Given the description of an element on the screen output the (x, y) to click on. 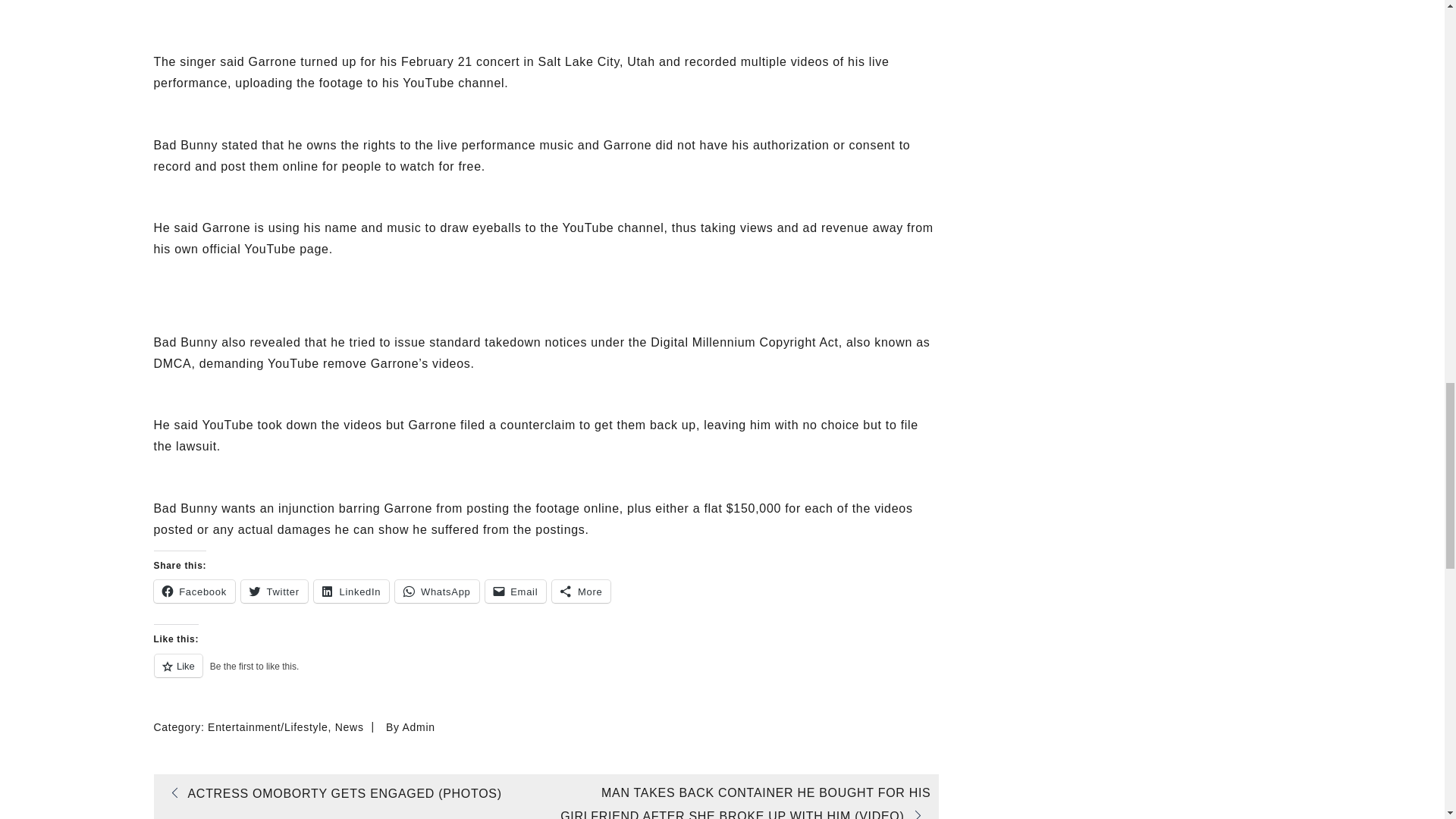
Click to share on Twitter (274, 590)
Click to share on WhatsApp (436, 590)
More (580, 590)
WhatsApp (436, 590)
Like or Reblog (544, 674)
Facebook (193, 590)
Email (515, 590)
Twitter (274, 590)
Click to email a link to a friend (515, 590)
Advertisement (544, 5)
LinkedIn (351, 590)
Advertisement (544, 280)
Click to share on Facebook (193, 590)
Click to share on LinkedIn (351, 590)
